Given the description of an element on the screen output the (x, y) to click on. 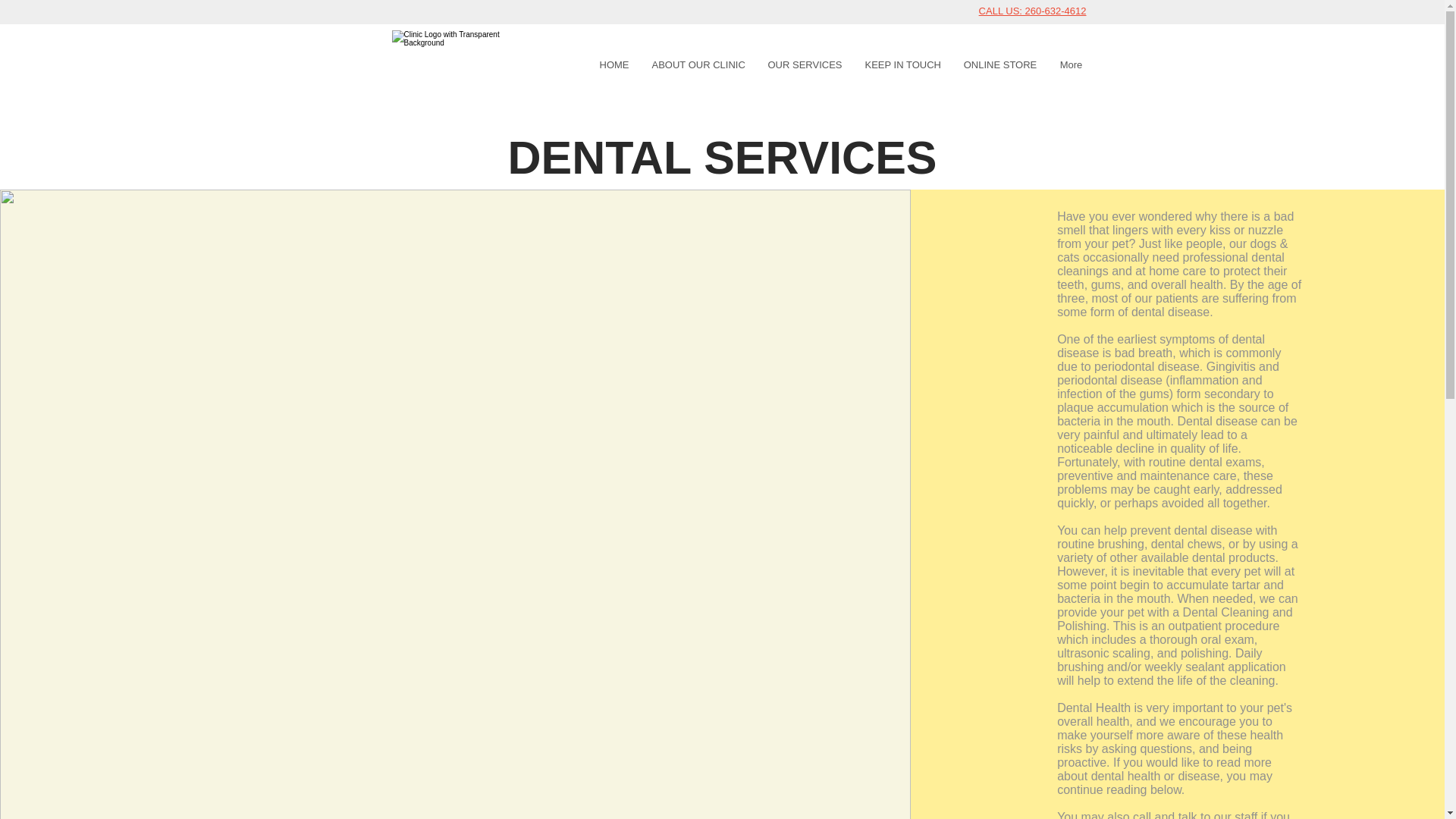
ONLINE STORE (1000, 64)
ABOUT OUR CLINIC (697, 64)
OUR SERVICES (805, 64)
HOME (614, 64)
KEEP IN TOUCH (902, 64)
CALL US: 260-632-4612 (1032, 10)
